Given the description of an element on the screen output the (x, y) to click on. 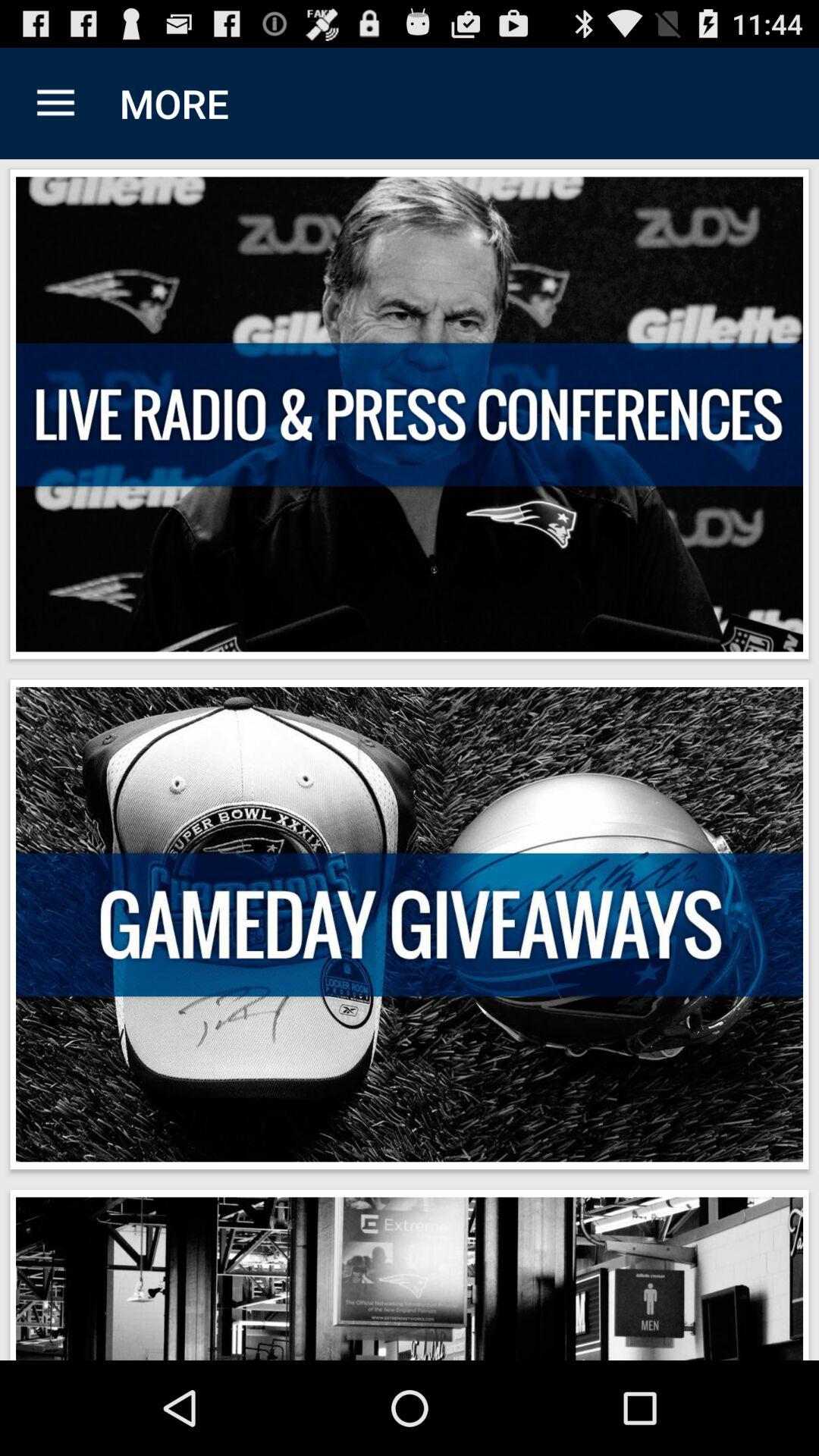
click the item to the left of the more app (55, 103)
